Given the description of an element on the screen output the (x, y) to click on. 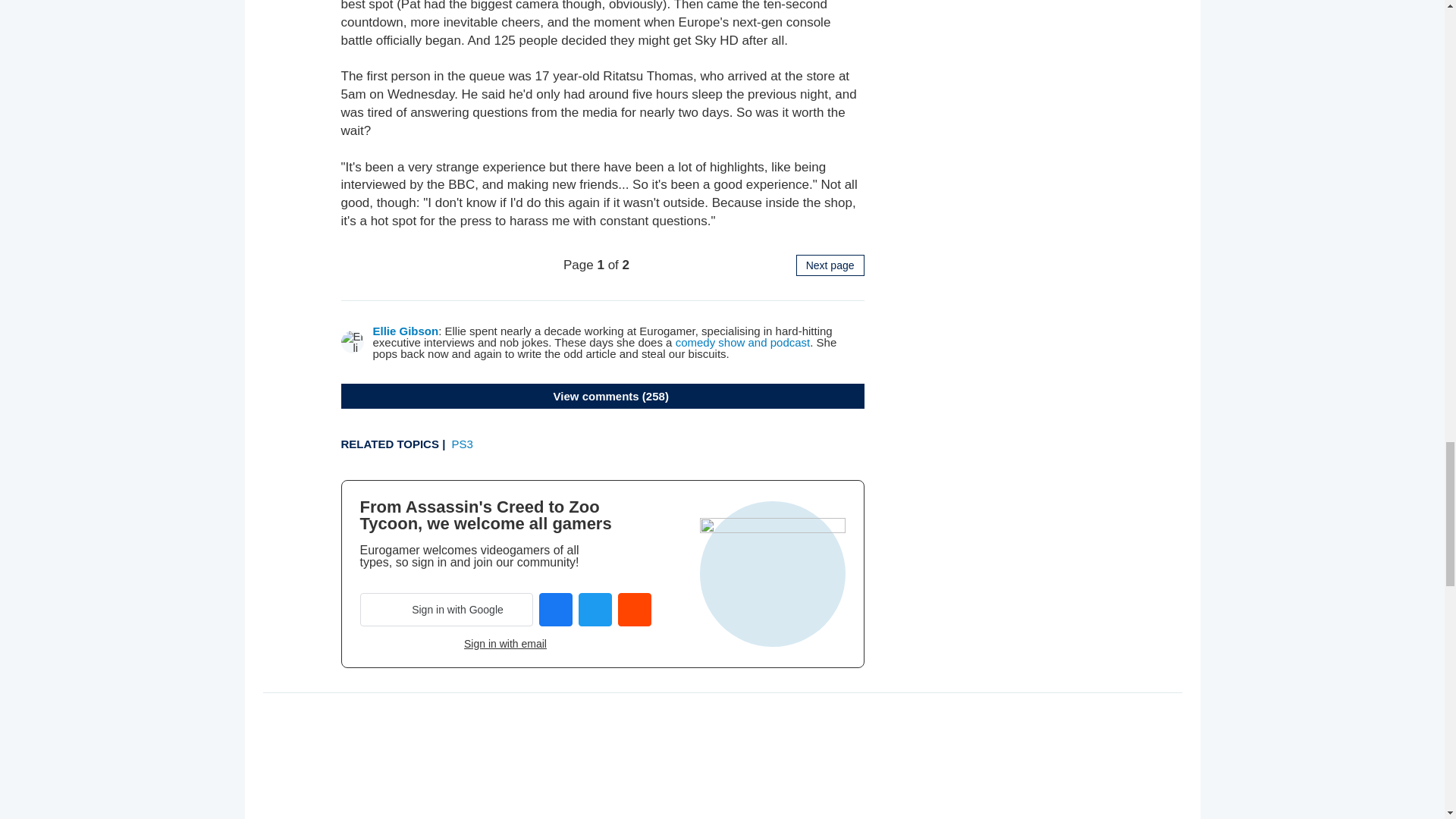
Ellie Gibson (405, 330)
PS3 (462, 443)
Next page (830, 265)
Sign in with Google (445, 609)
comedy show and podcast (742, 341)
Sign in with Google (445, 609)
Sign in with email (504, 643)
